Given the description of an element on the screen output the (x, y) to click on. 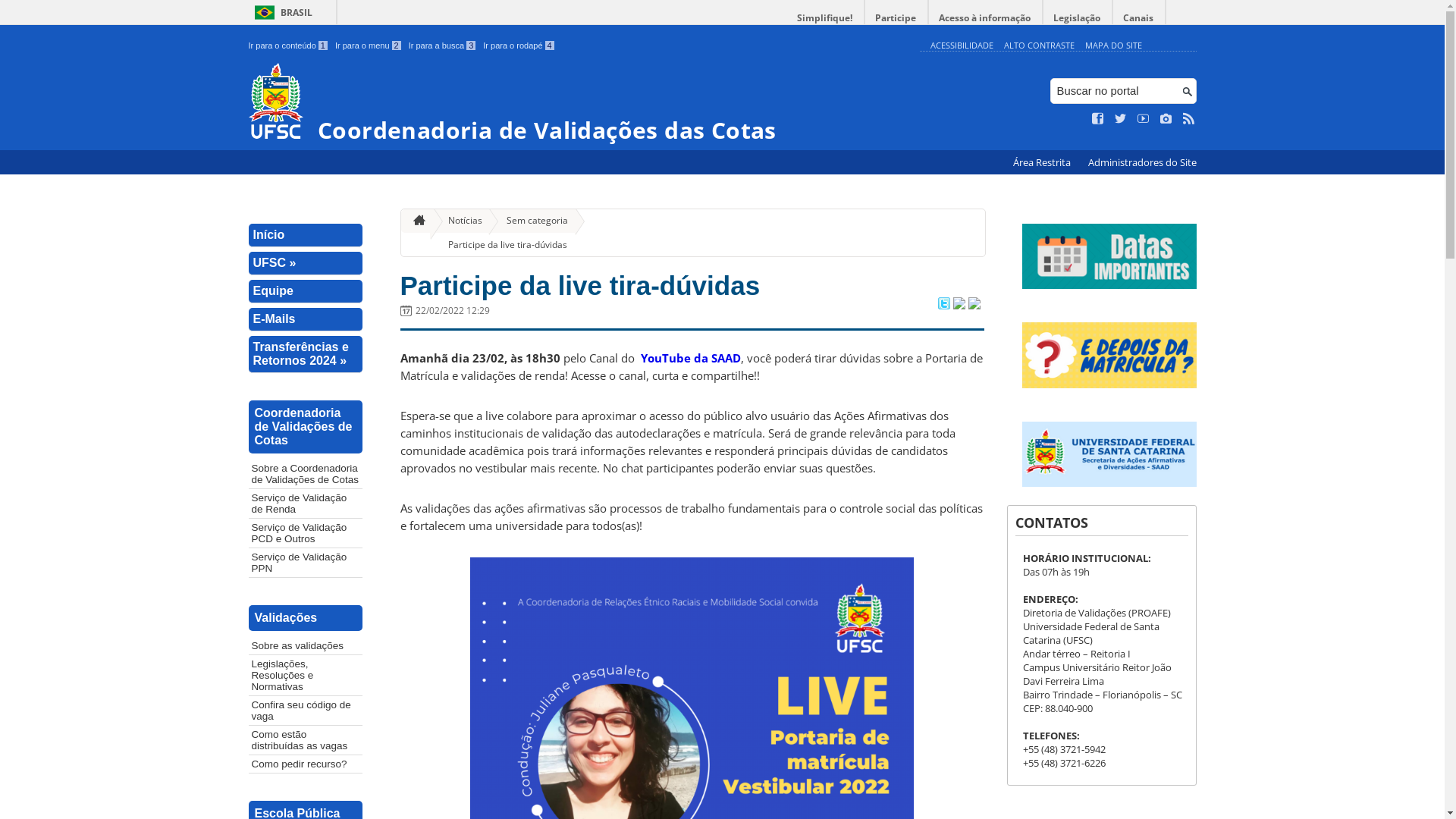
BRASIL Element type: text (280, 12)
Curta no Facebook Element type: hover (1098, 118)
Simplifique! Element type: text (825, 18)
Canais Element type: text (1138, 18)
MAPA DO SITE Element type: text (1112, 44)
Ir para a busca 3 Element type: text (442, 45)
Como pedir recurso? Element type: text (305, 763)
Sem categoria Element type: text (531, 220)
Compartilhar no WhatsApp Element type: hover (973, 304)
Participe Element type: text (895, 18)
Compartilhar no Facebook Element type: hover (958, 304)
Veja no Instagram Element type: hover (1166, 118)
Compartilhar no Twitter Element type: hover (943, 304)
ALTO CONTRASTE Element type: text (1039, 44)
Equipe Element type: text (305, 291)
E-Mails Element type: text (305, 319)
Administradores do Site Element type: text (1141, 162)
ACESSIBILIDADE Element type: text (960, 44)
Siga no Twitter Element type: hover (1120, 118)
Ir para o menu 2 Element type: text (368, 45)
YouTube da SAAD Element type: text (690, 357)
